Given the description of an element on the screen output the (x, y) to click on. 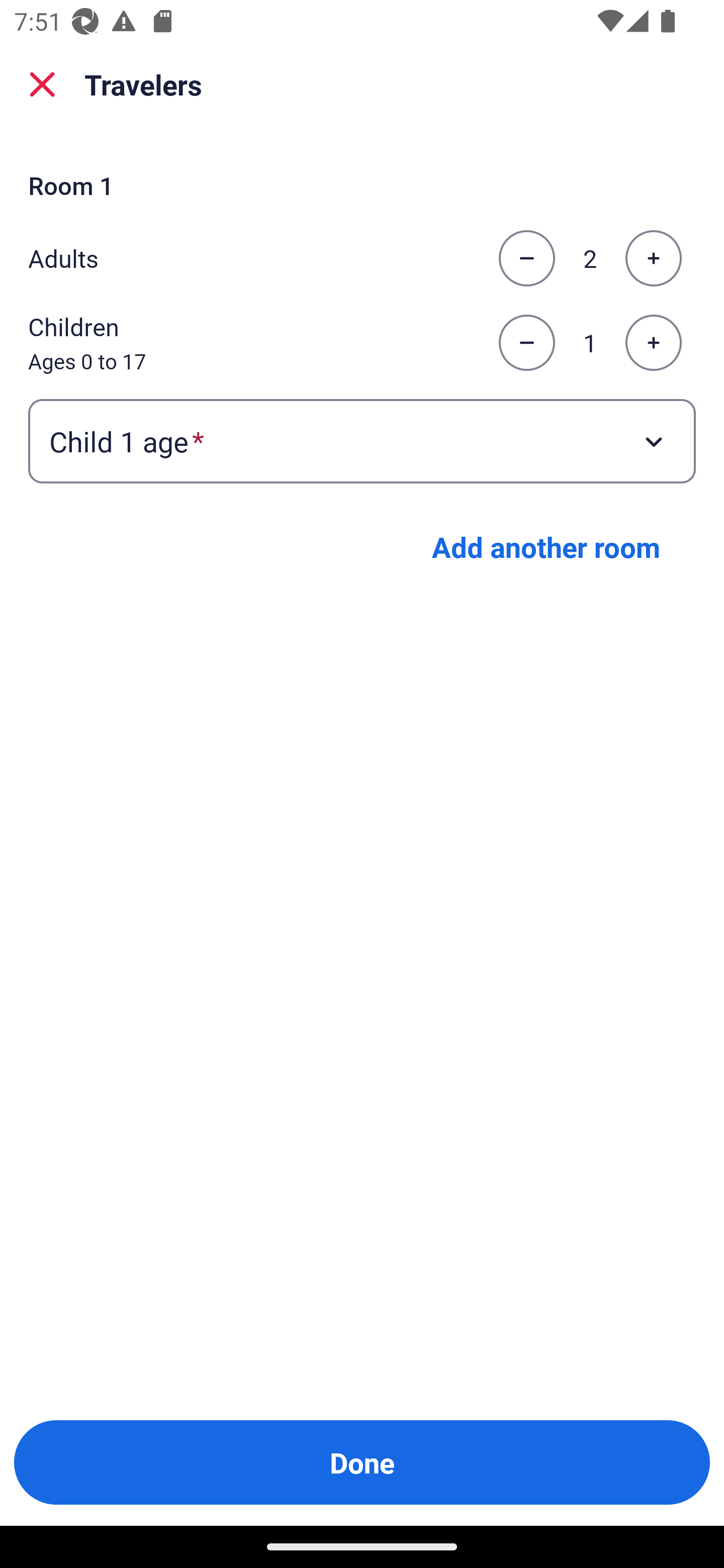
close (42, 84)
Decrease the number of adults (526, 258)
Increase the number of adults (653, 258)
Decrease the number of children (526, 343)
Increase the number of children (653, 343)
Child 1 age required Button (361, 440)
Add another room (545, 546)
Done (361, 1462)
